Given the description of an element on the screen output the (x, y) to click on. 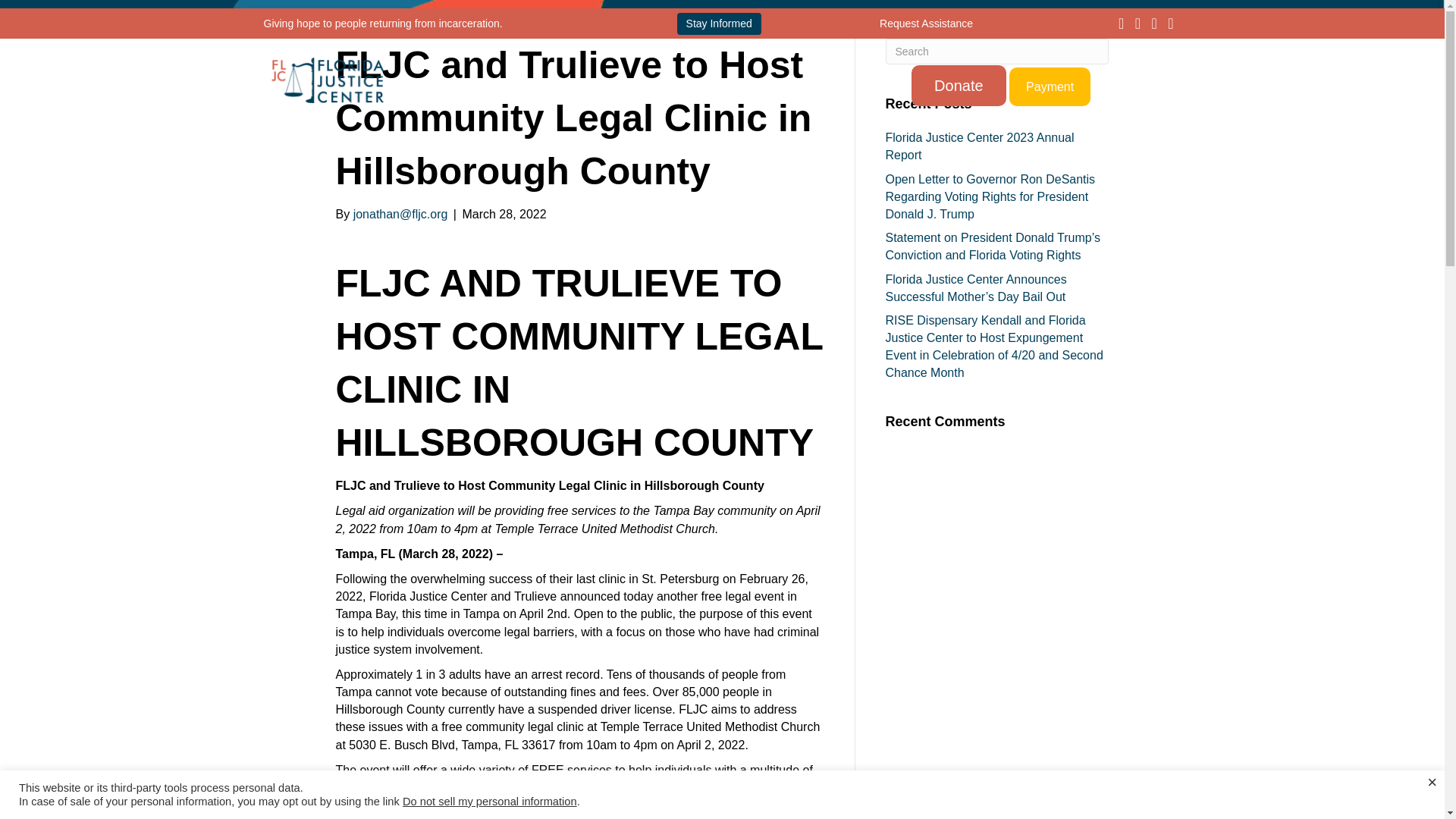
ABOUT US (569, 85)
Florida Justice Center Modern Logo (327, 80)
Close and Accept (1431, 782)
Request Assistance (925, 22)
Type and press Enter to search. (997, 51)
SERVICES (676, 85)
Stay Informed (719, 24)
HOME (478, 85)
